Given the description of an element on the screen output the (x, y) to click on. 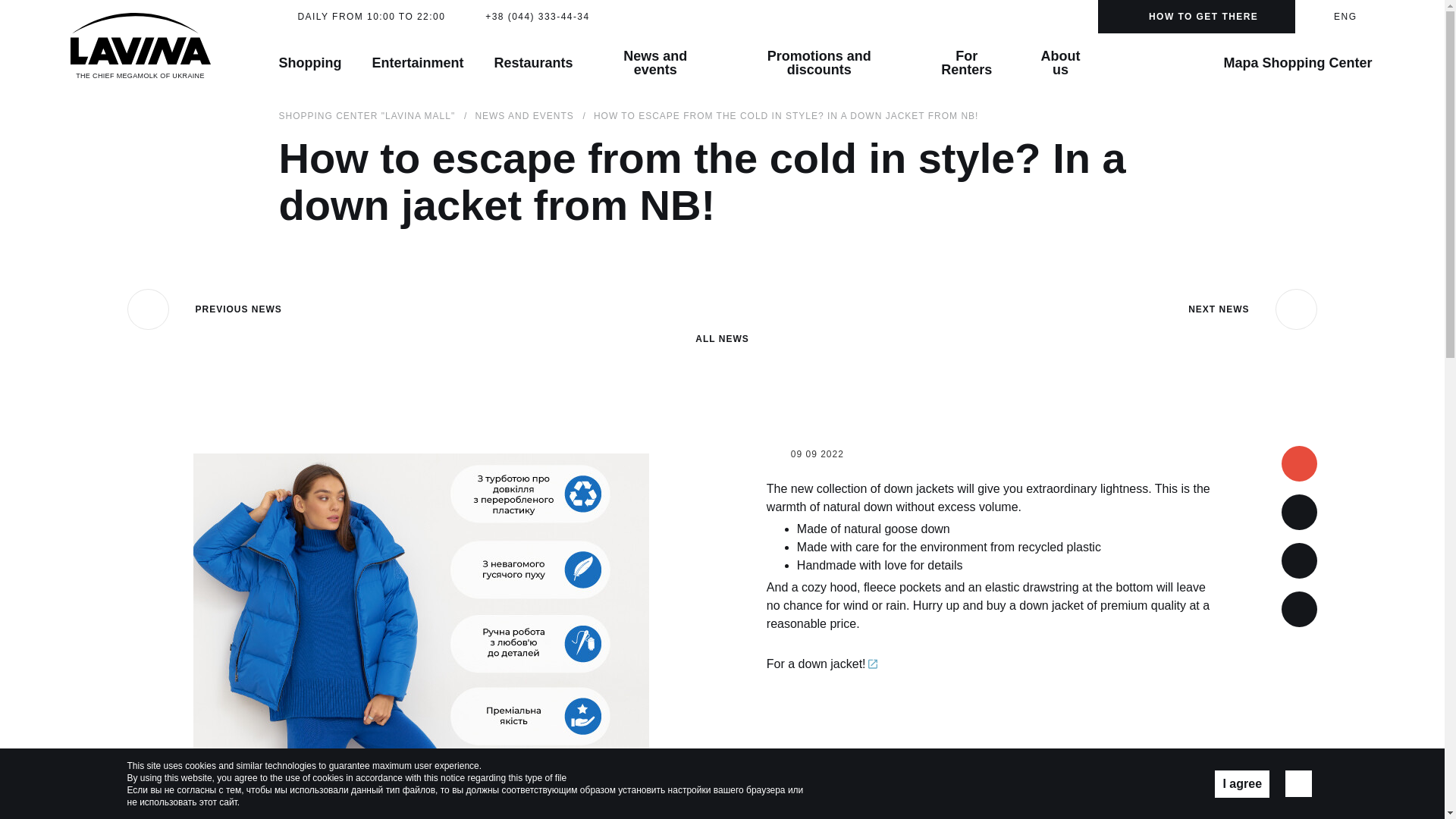
News and events (654, 62)
ALL NEWS (721, 316)
Share this page (1299, 511)
Shopping (309, 62)
THE CHIEF MEGAMOLK OF UKRAINE (139, 46)
Promotions and discounts (818, 62)
For Renters (966, 62)
Share this page (1299, 609)
Restaurants (533, 62)
